Given the description of an element on the screen output the (x, y) to click on. 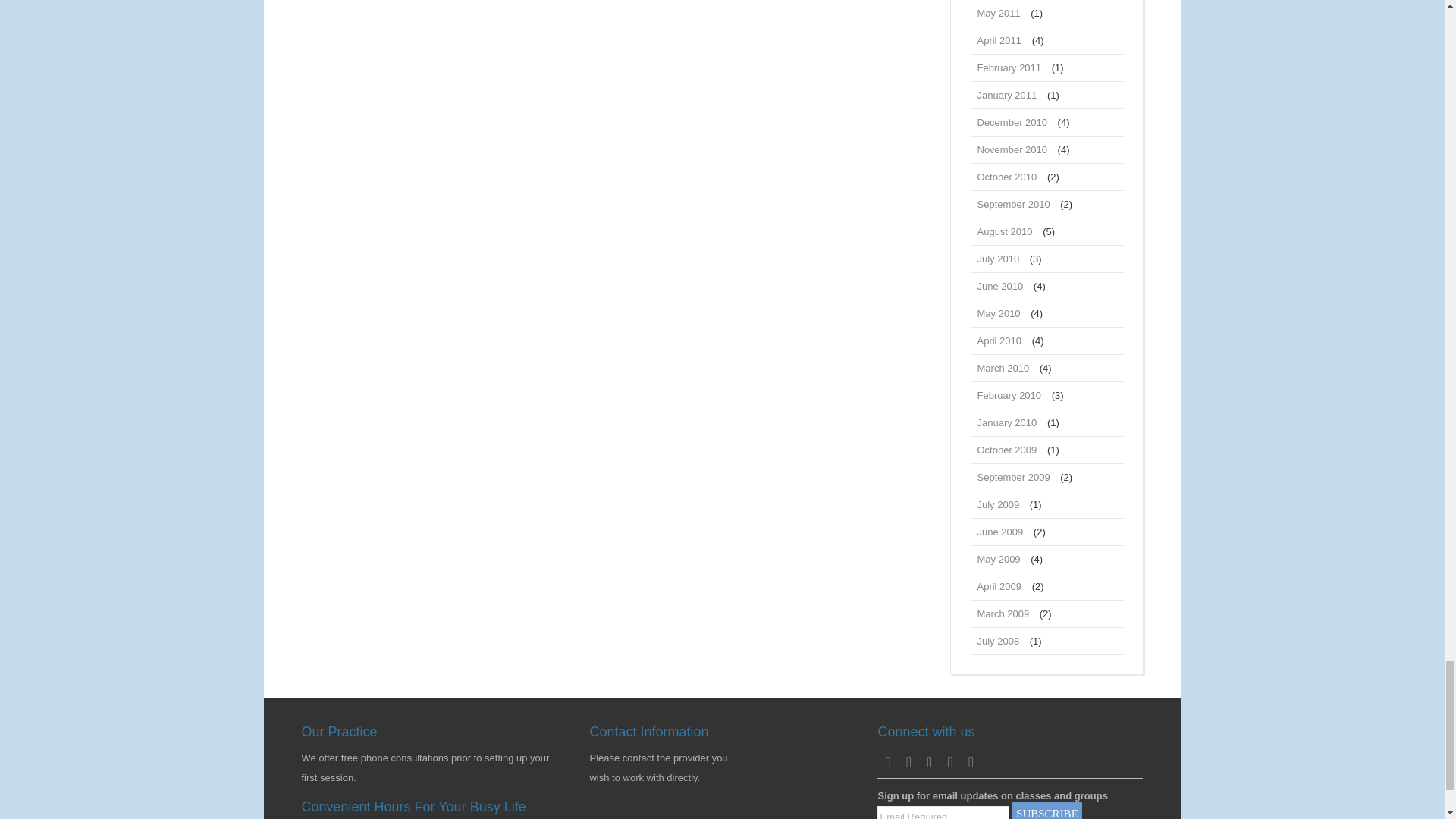
Email Required (943, 812)
Subscribe (1046, 810)
